Given the description of an element on the screen output the (x, y) to click on. 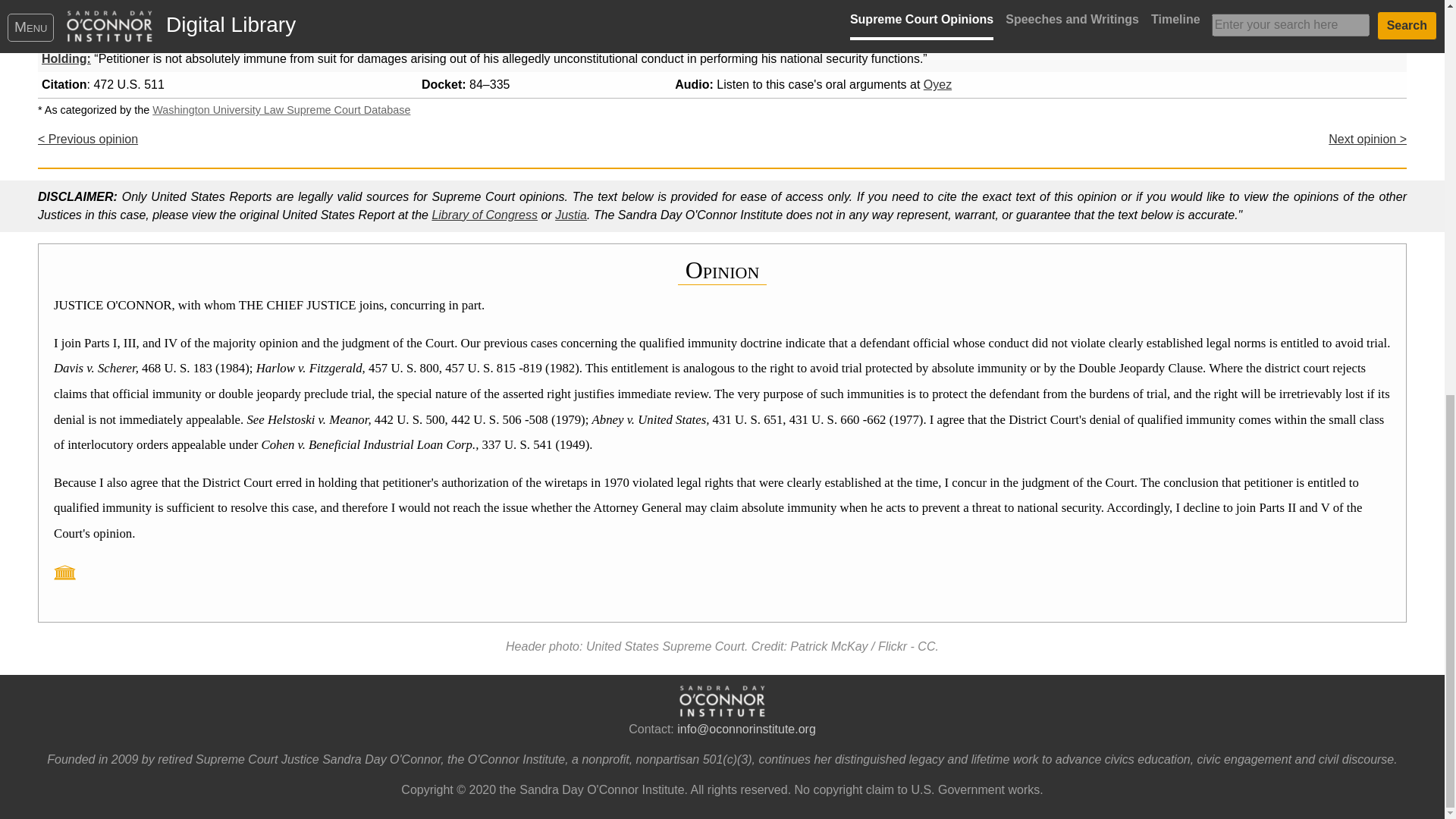
Library of Congress (483, 214)
Holding: (66, 58)
Washington University Law Supreme Court Database (281, 110)
Oyez (937, 83)
 Chief Justice BURGER (287, 20)
Justia (570, 214)
Sandra Day O'Connor Institute (722, 701)
